Given the description of an element on the screen output the (x, y) to click on. 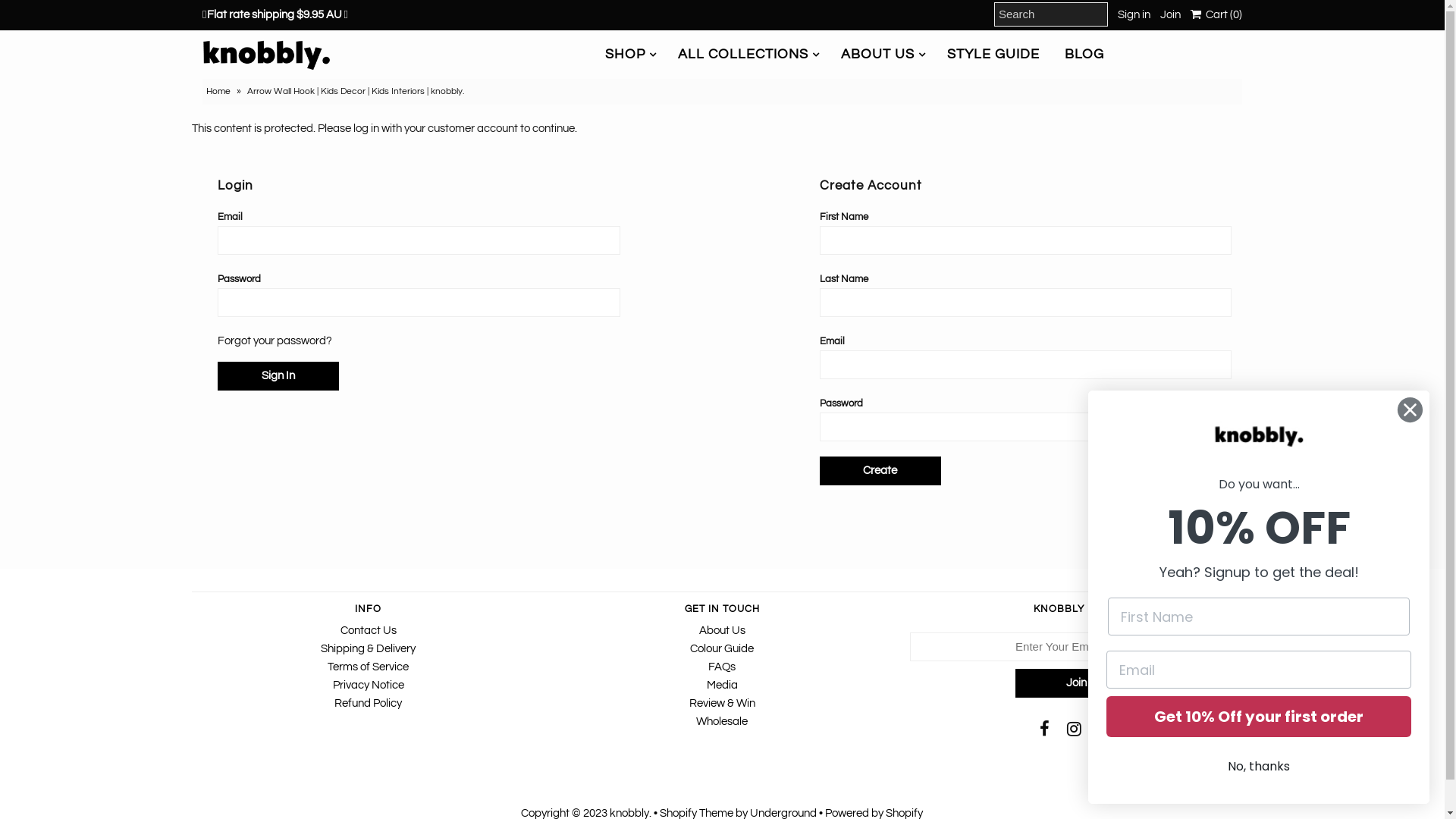
STYLE GUIDE Element type: text (993, 54)
FAQs Element type: text (721, 666)
Privacy Notice Element type: text (368, 684)
Wholesale Element type: text (721, 721)
Submit Element type: text (60, 14)
Media Element type: text (721, 684)
Shipping & Delivery Element type: text (367, 648)
Join Element type: text (1075, 682)
No, thanks Element type: text (1258, 766)
Terms of Service Element type: text (367, 666)
Get 10% Off your first order Element type: text (1258, 716)
Colour Guide Element type: text (721, 648)
Home Element type: text (220, 91)
Review & Win Element type: text (722, 703)
Sign in Element type: text (1133, 14)
ALL COLLECTIONS Element type: text (742, 54)
Sign In Element type: text (277, 375)
Refund Policy Element type: text (367, 703)
Create Element type: text (880, 470)
BLOG Element type: text (1084, 54)
Forgot your password? Element type: text (274, 340)
About Us Element type: text (722, 630)
  Cart (0) Element type: text (1216, 14)
Join Element type: text (1170, 14)
Contact Us Element type: text (368, 630)
ABOUT US Element type: text (877, 54)
SHOP Element type: text (624, 54)
